Given the description of an element on the screen output the (x, y) to click on. 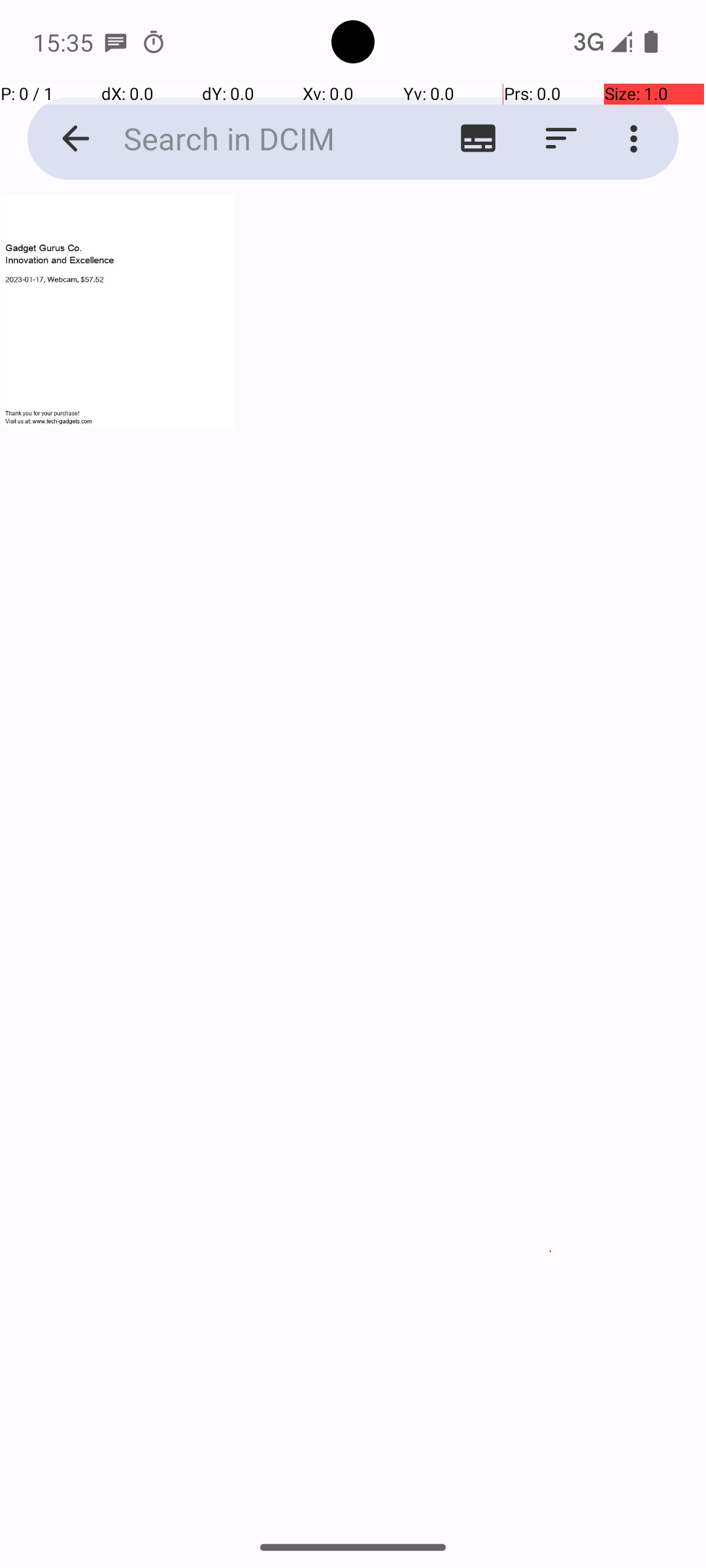
Search in DCIM Element type: android.widget.EditText (252, 138)
